Given the description of an element on the screen output the (x, y) to click on. 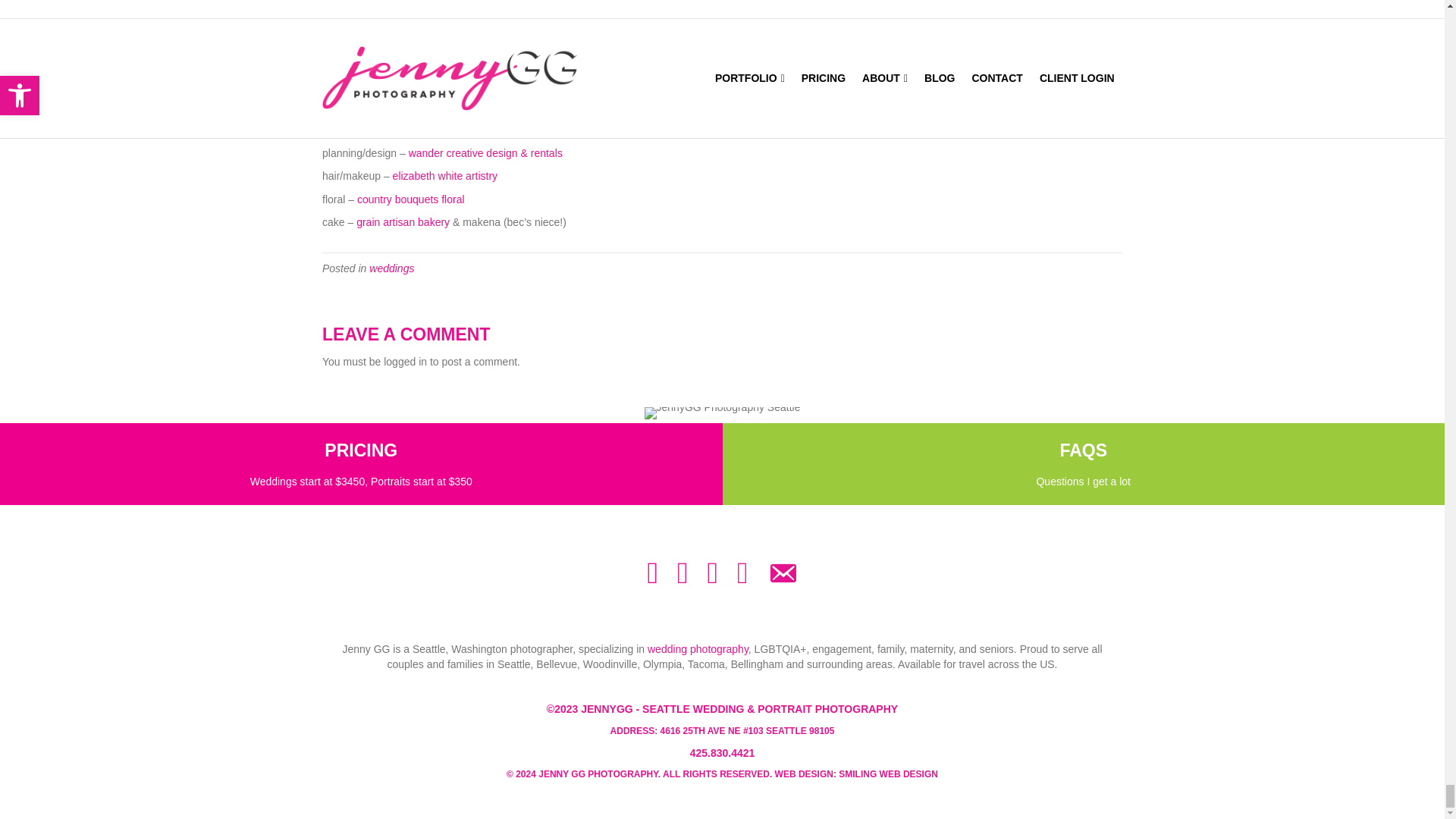
PRICING (360, 450)
grain artisan bakery (402, 222)
FAQS (1082, 450)
country bouquets floral (410, 199)
elizabeth white artistry (445, 175)
weddings (391, 268)
PRICING (360, 450)
gg-icon (722, 413)
